Given the description of an element on the screen output the (x, y) to click on. 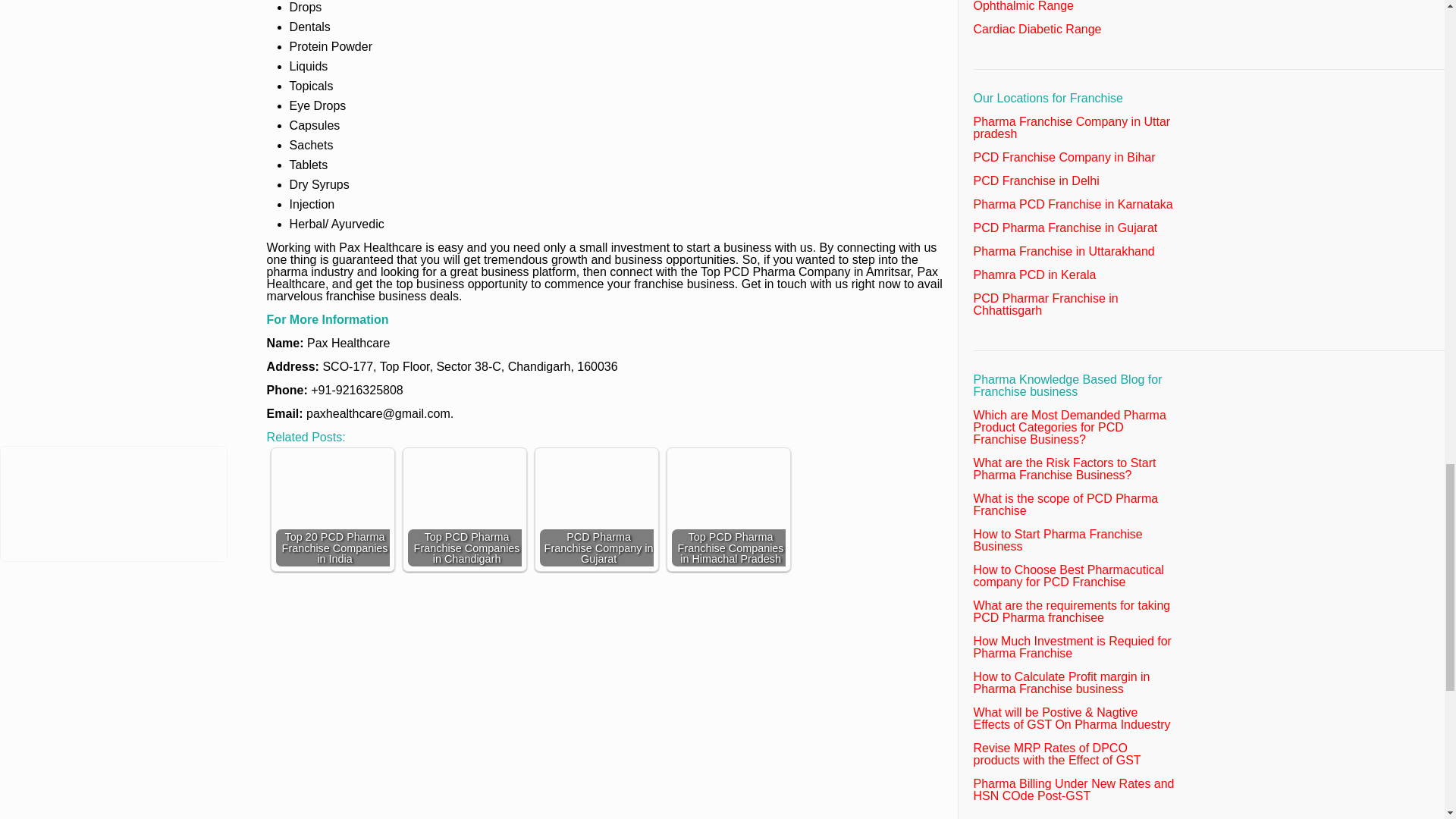
Top 20 PCD Pharma Franchise Companies in India (333, 509)
Top PCD Pharma Franchise Companies in Himachal Pradesh (728, 509)
PCD Pharma Franchise Company in Gujarat (596, 509)
Top PCD Pharma Franchise Companies in Chandigarh (464, 489)
